Given the description of an element on the screen output the (x, y) to click on. 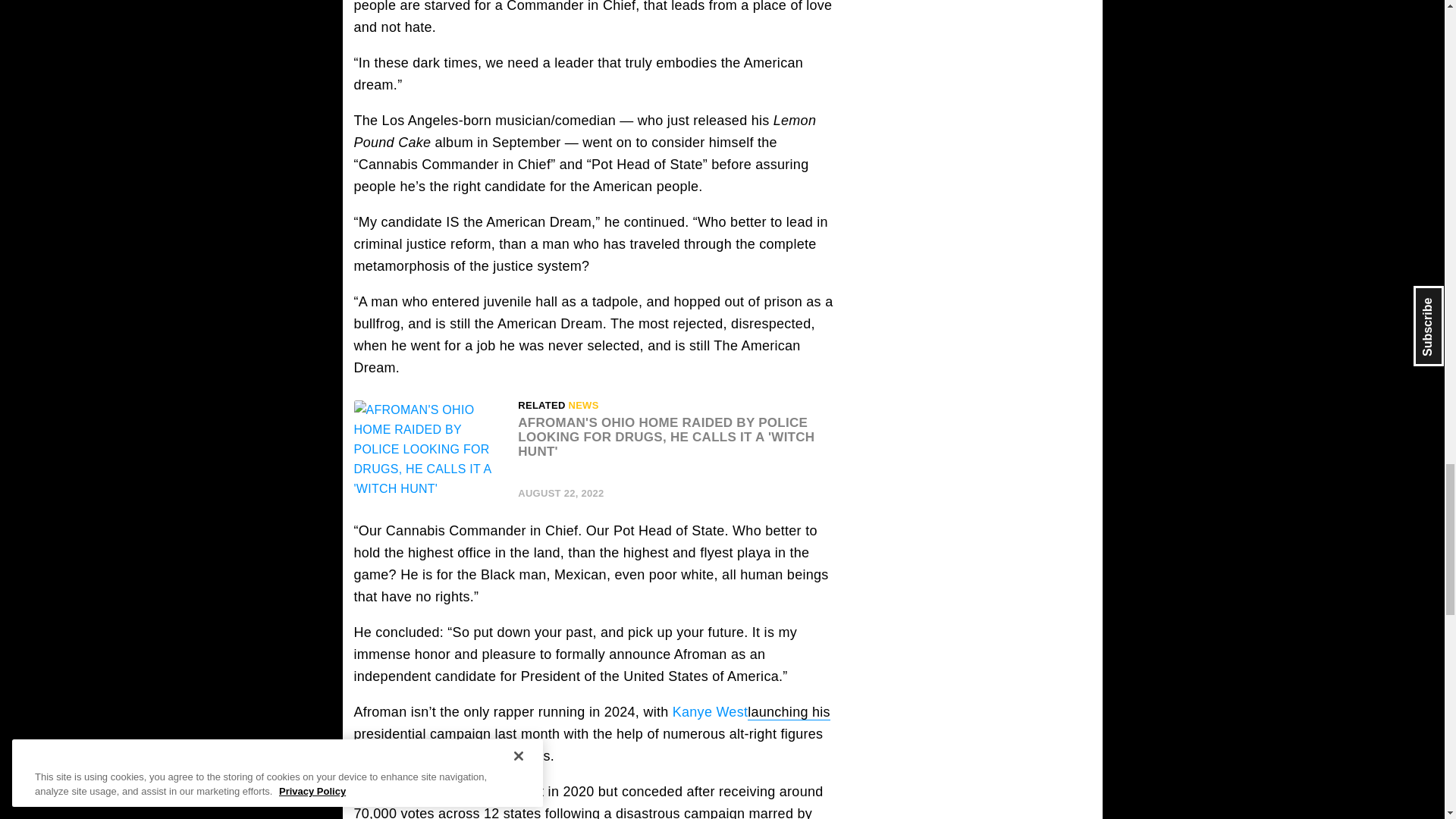
Kanye West (710, 711)
launching his presidential campaign (591, 723)
